Given the description of an element on the screen output the (x, y) to click on. 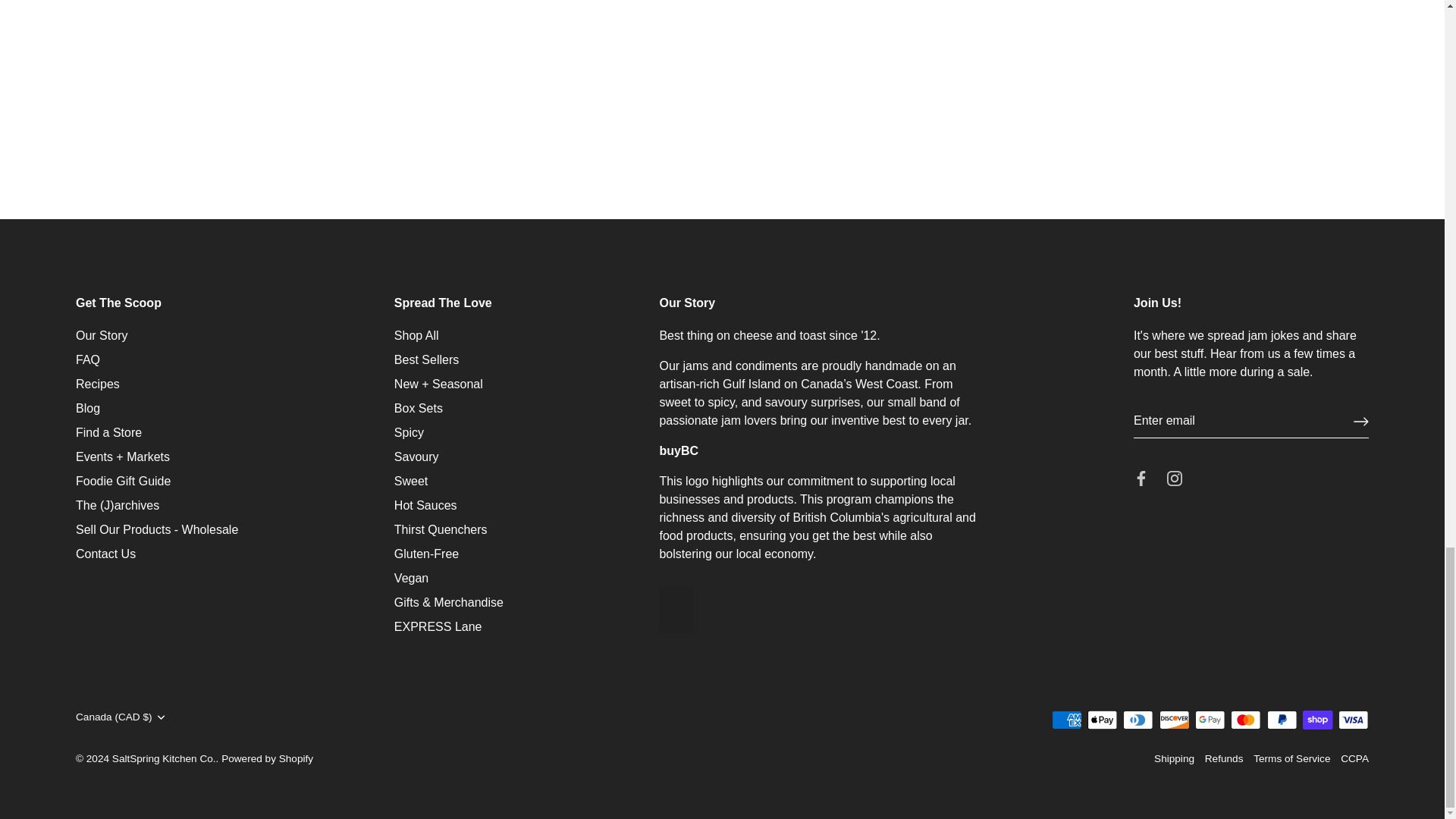
RIGHT ARROW LONG (1361, 421)
American Express (1066, 719)
Apple Pay (1101, 719)
Visa (1353, 719)
PayPal (1281, 719)
Discover (1173, 719)
Instagram (1174, 478)
Google Pay (1209, 719)
Shop Pay (1317, 719)
Diners Club (1137, 719)
Mastercard (1245, 719)
